Given the description of an element on the screen output the (x, y) to click on. 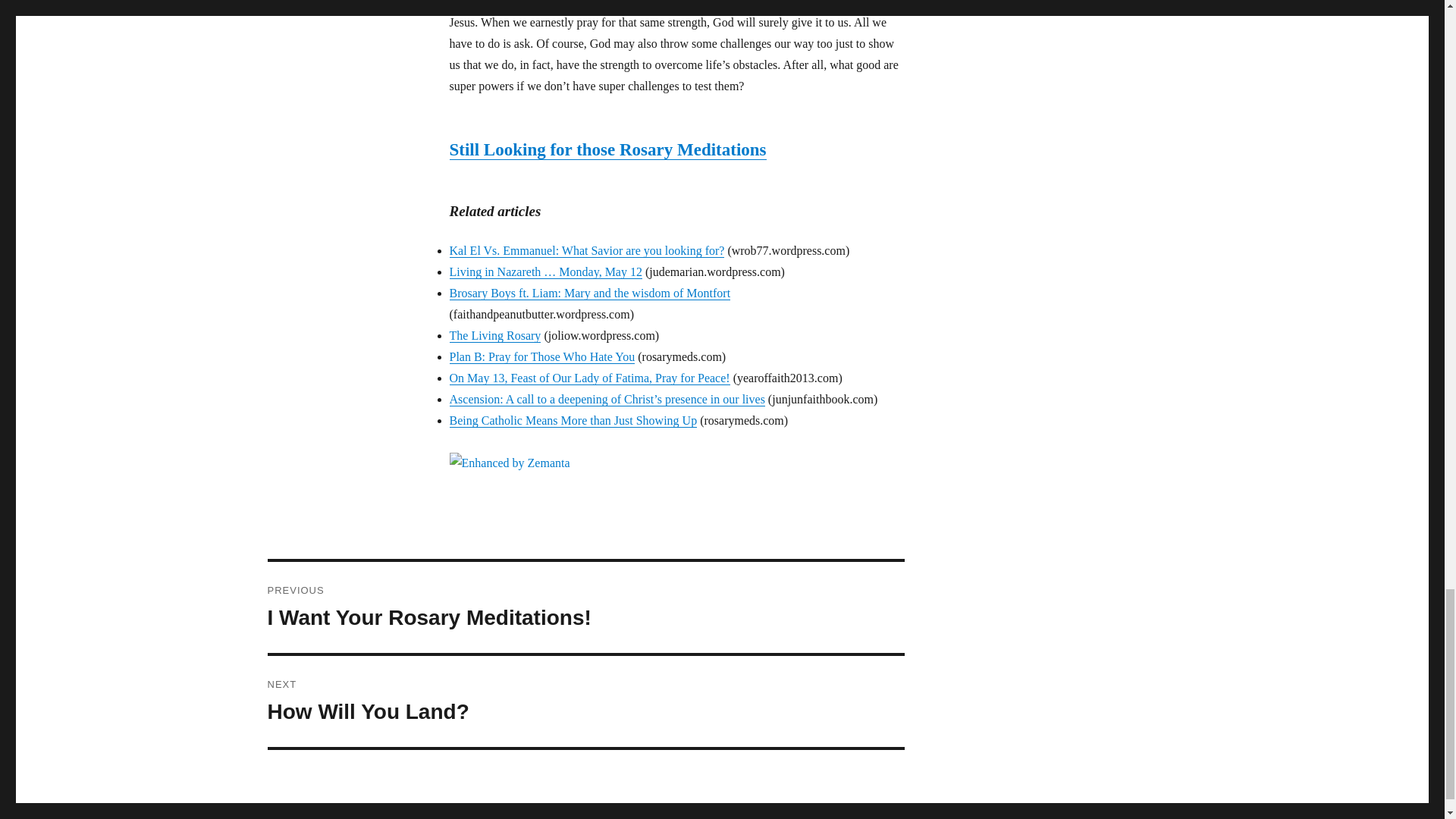
Plan B: Pray for Those Who Hate You (541, 356)
Being Catholic Means More than Just Showing Up (572, 420)
Submit a Rosary Meditation (606, 149)
The Living Rosary (494, 335)
Still Looking for those Rosary Meditations (606, 149)
Kal El Vs. Emmanuel: What Savior are you looking for? (585, 250)
Brosary Boys ft. Liam: Mary and the wisdom of Montfort (589, 292)
Enhanced by Zemanta (676, 463)
On May 13, Feast of Our Lady of Fatima, Pray for Peace! (588, 377)
